Given the description of an element on the screen output the (x, y) to click on. 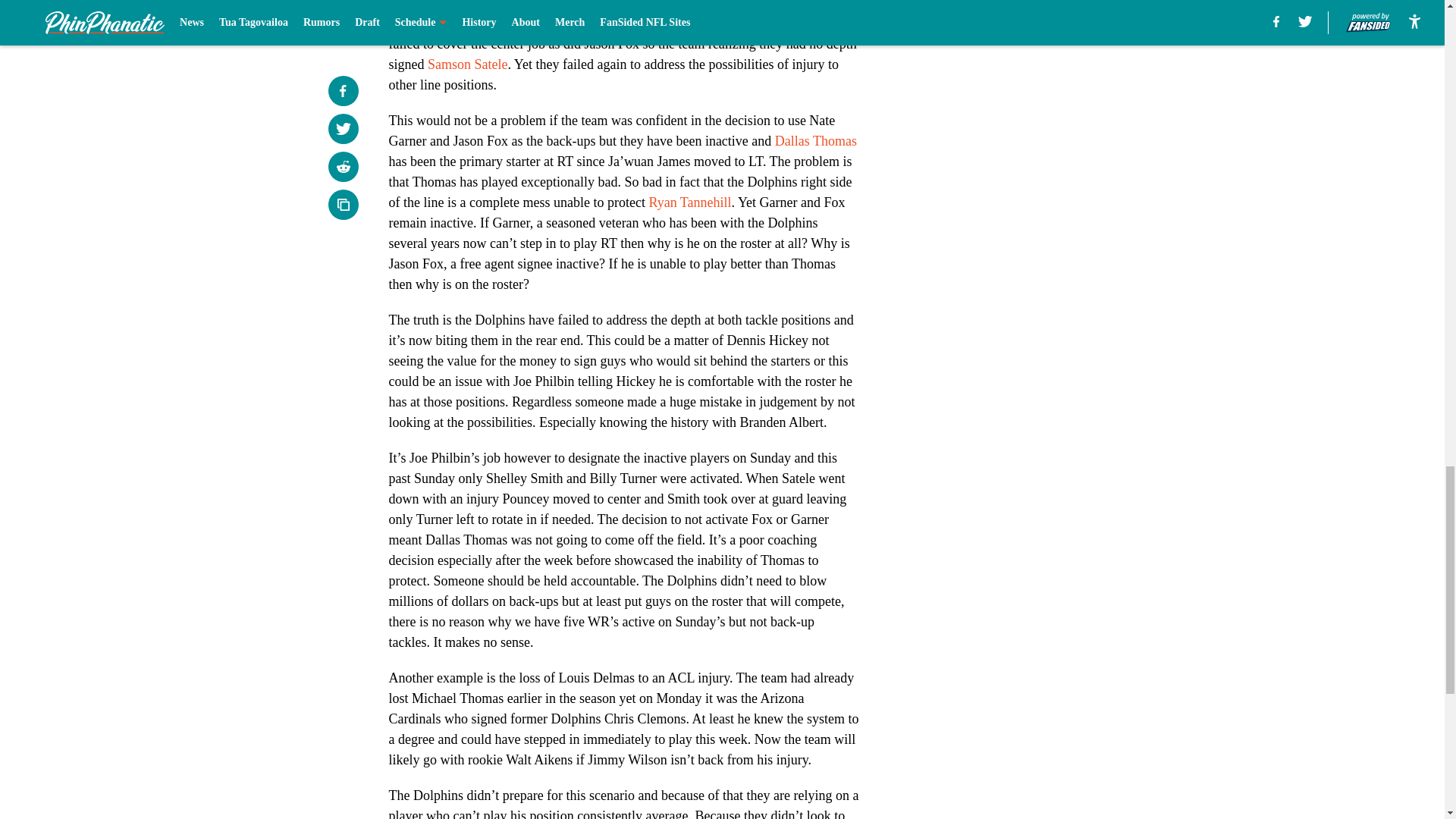
Samson Satele (468, 64)
Dallas Thomas (815, 140)
Ryan Tannehill (688, 201)
